Given the description of an element on the screen output the (x, y) to click on. 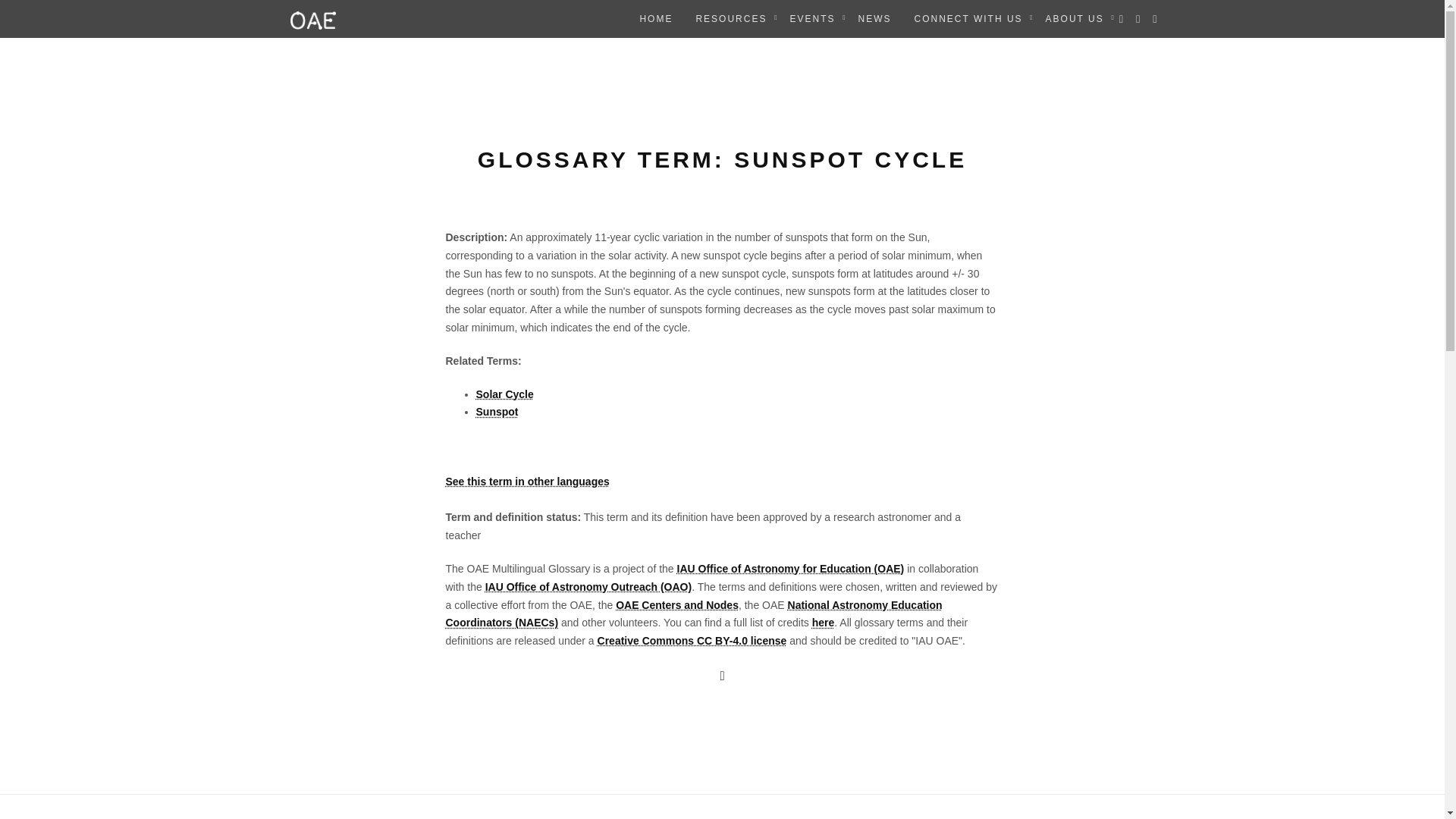
RESOURCES (730, 18)
See this term in other languages (527, 481)
HOME (655, 18)
Sunspot (497, 411)
OAE Centers and Nodes (676, 604)
CONNECT WITH US (967, 18)
ABOUT US (1074, 18)
Solar Cycle (505, 394)
OAE homepage (313, 18)
NEWS (873, 18)
EVENTS (811, 18)
here (823, 622)
